Given the description of an element on the screen output the (x, y) to click on. 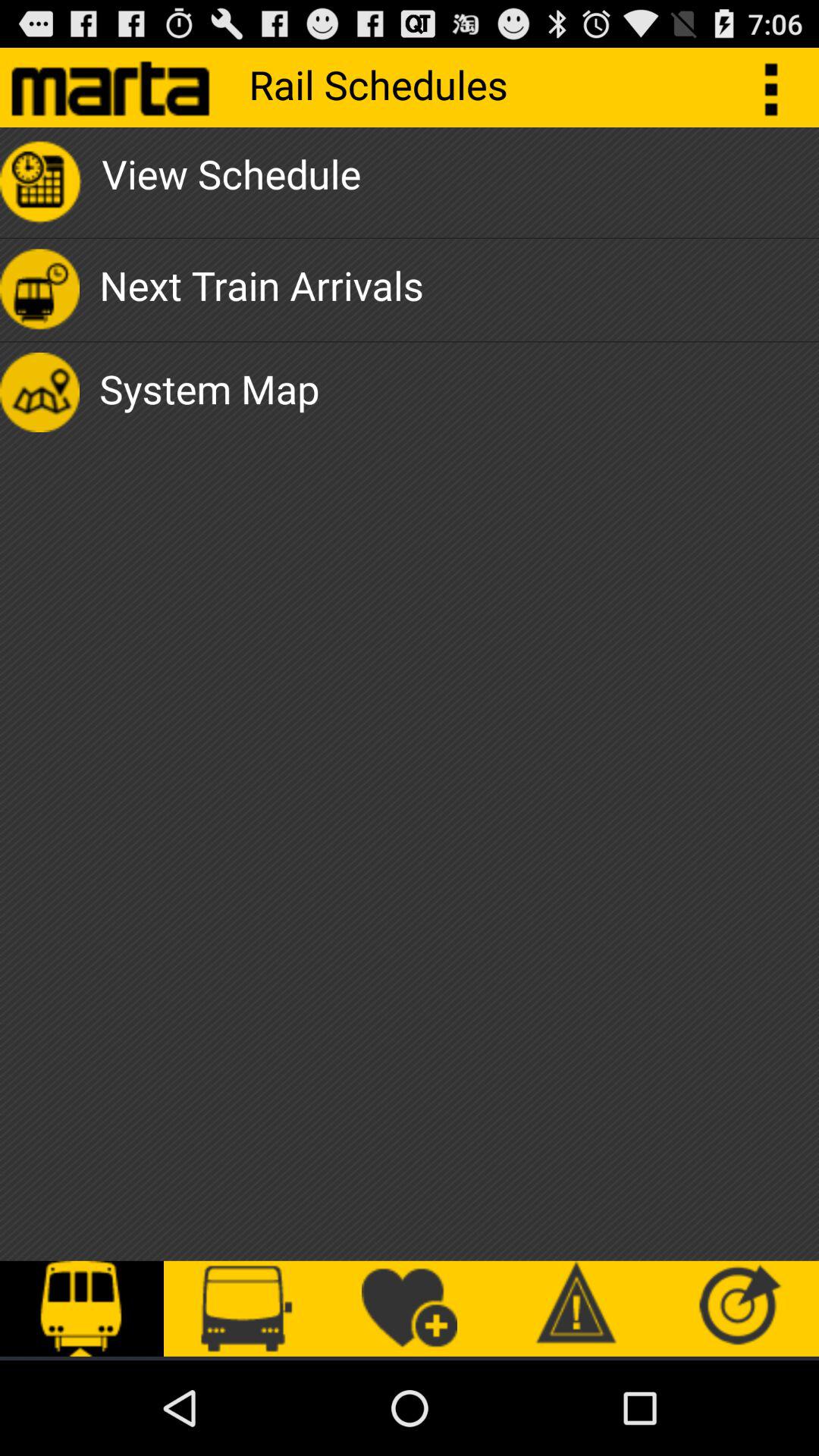
choose app above system map icon (261, 289)
